Given the description of an element on the screen output the (x, y) to click on. 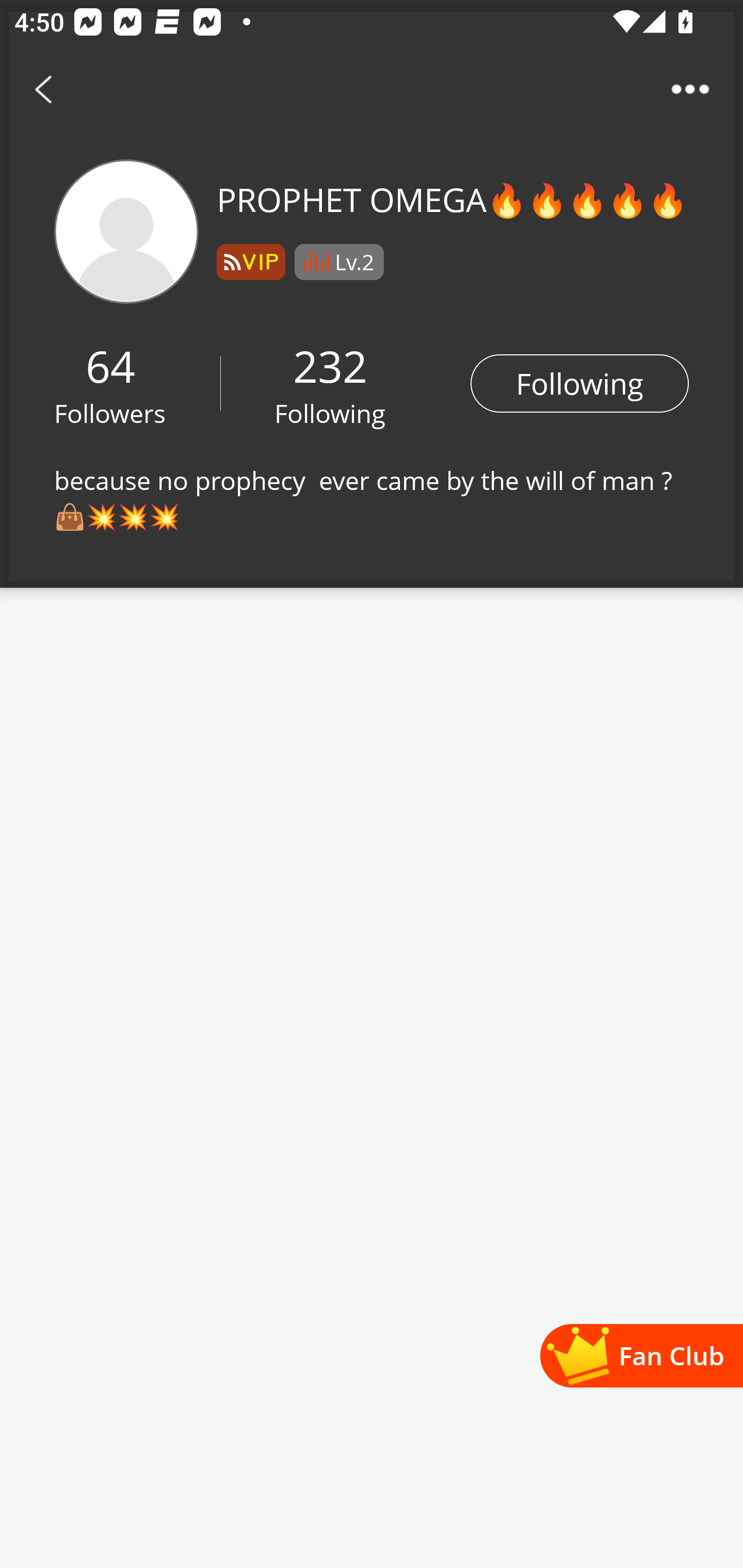
64 (110, 365)
232 (329, 365)
Following (579, 383)
Followers (110, 413)
Following (329, 413)
Fan Club (641, 1355)
